Given the description of an element on the screen output the (x, y) to click on. 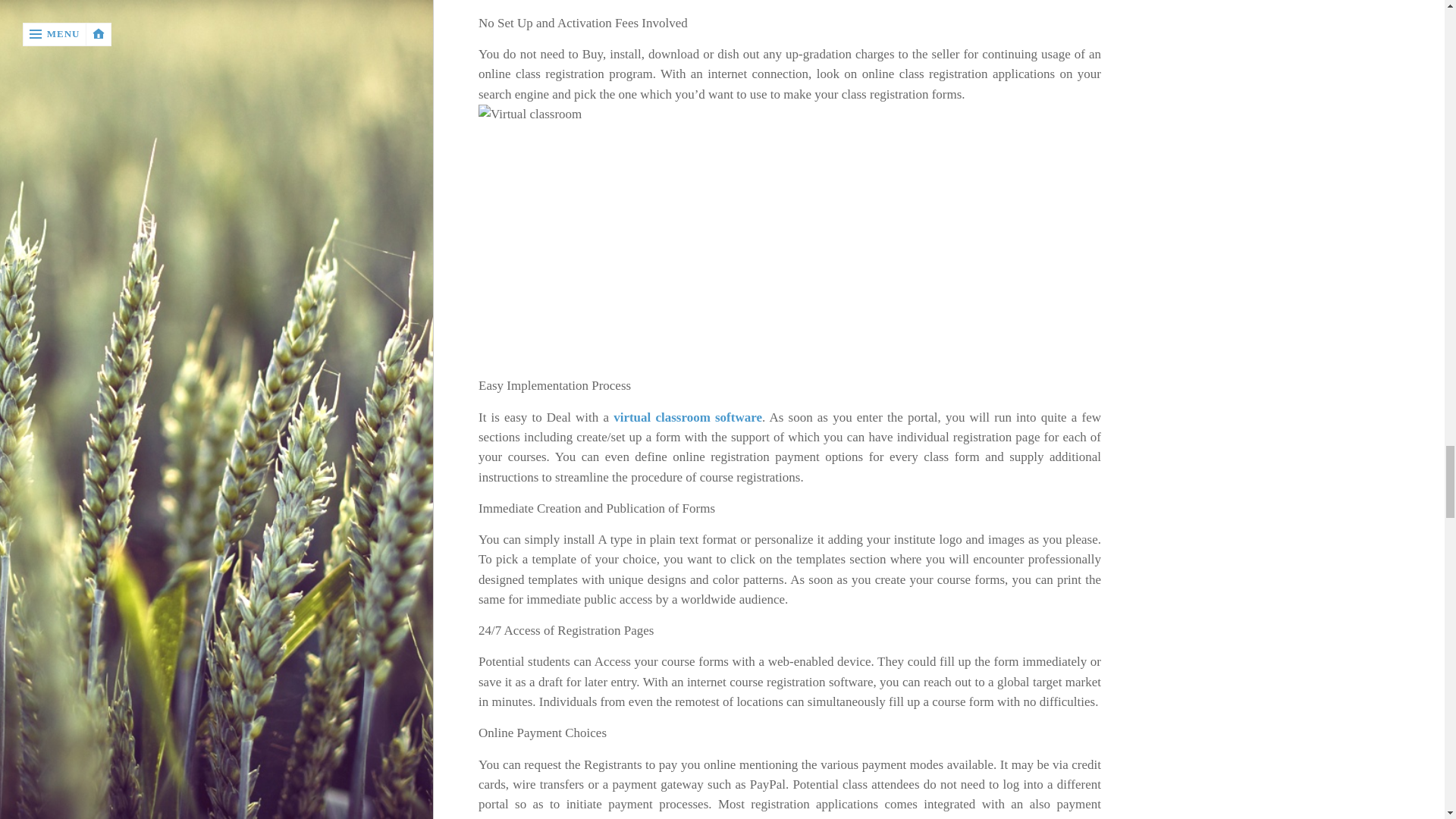
virtual classroom software (686, 417)
